Given the description of an element on the screen output the (x, y) to click on. 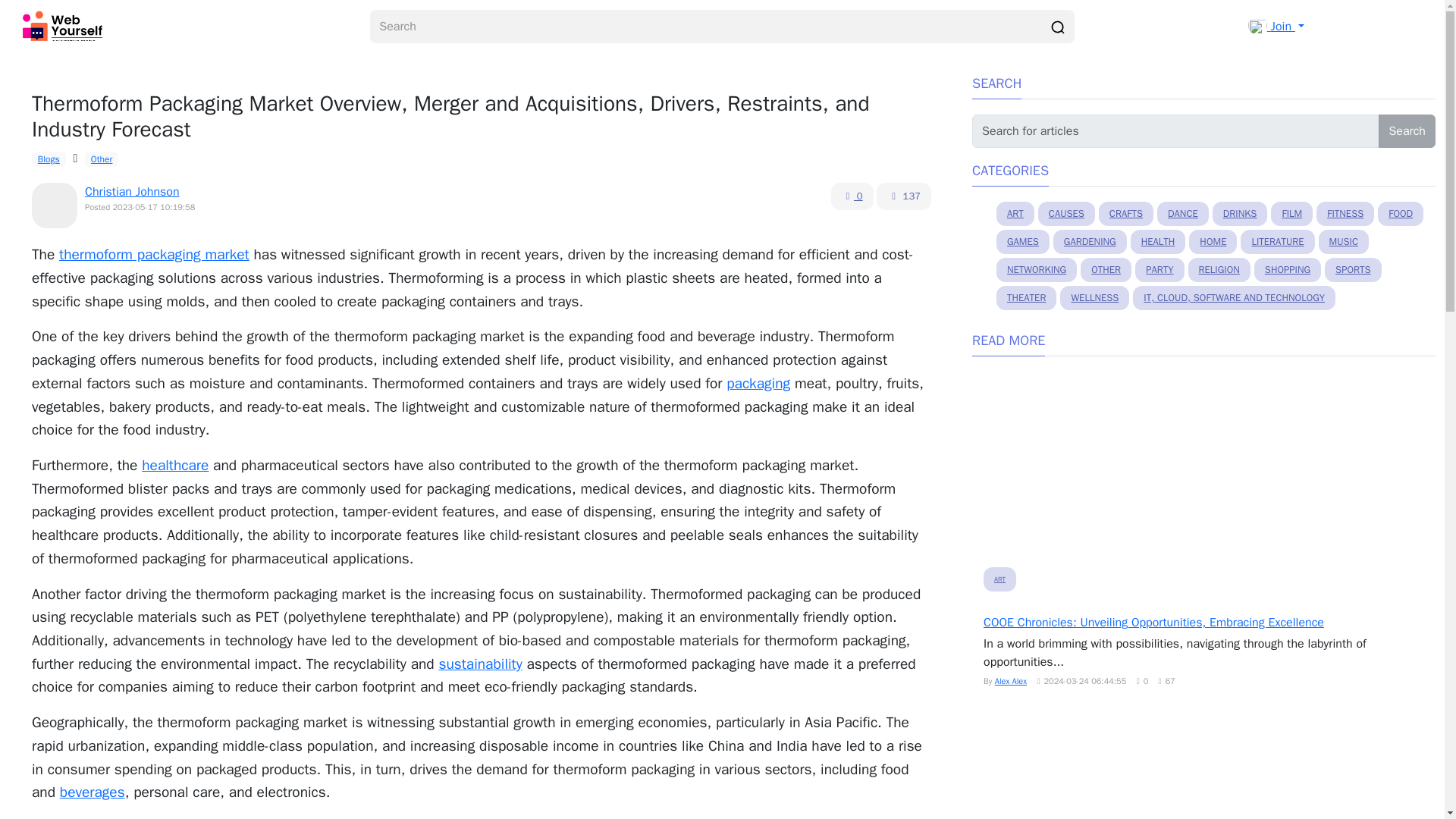
Search (1406, 131)
Join (1276, 26)
Other (100, 159)
sustainability (479, 664)
GAMES (1022, 241)
FOOD (1400, 213)
Christian Johnson (131, 191)
CAUSES (1066, 213)
DRINKS (1240, 213)
FILM (1292, 213)
